Given the description of an element on the screen output the (x, y) to click on. 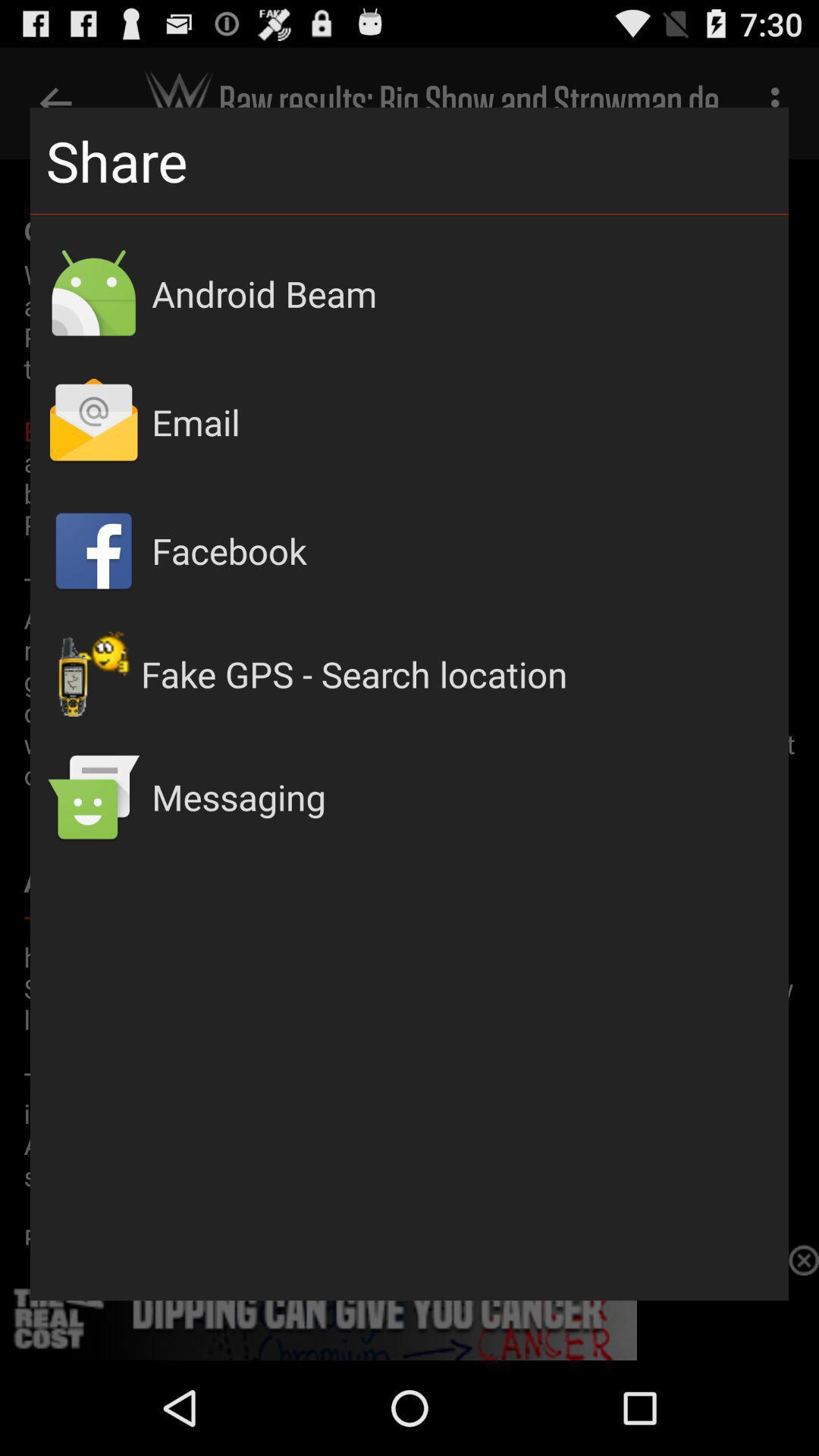
press app below the fake gps search item (461, 796)
